Given the description of an element on the screen output the (x, y) to click on. 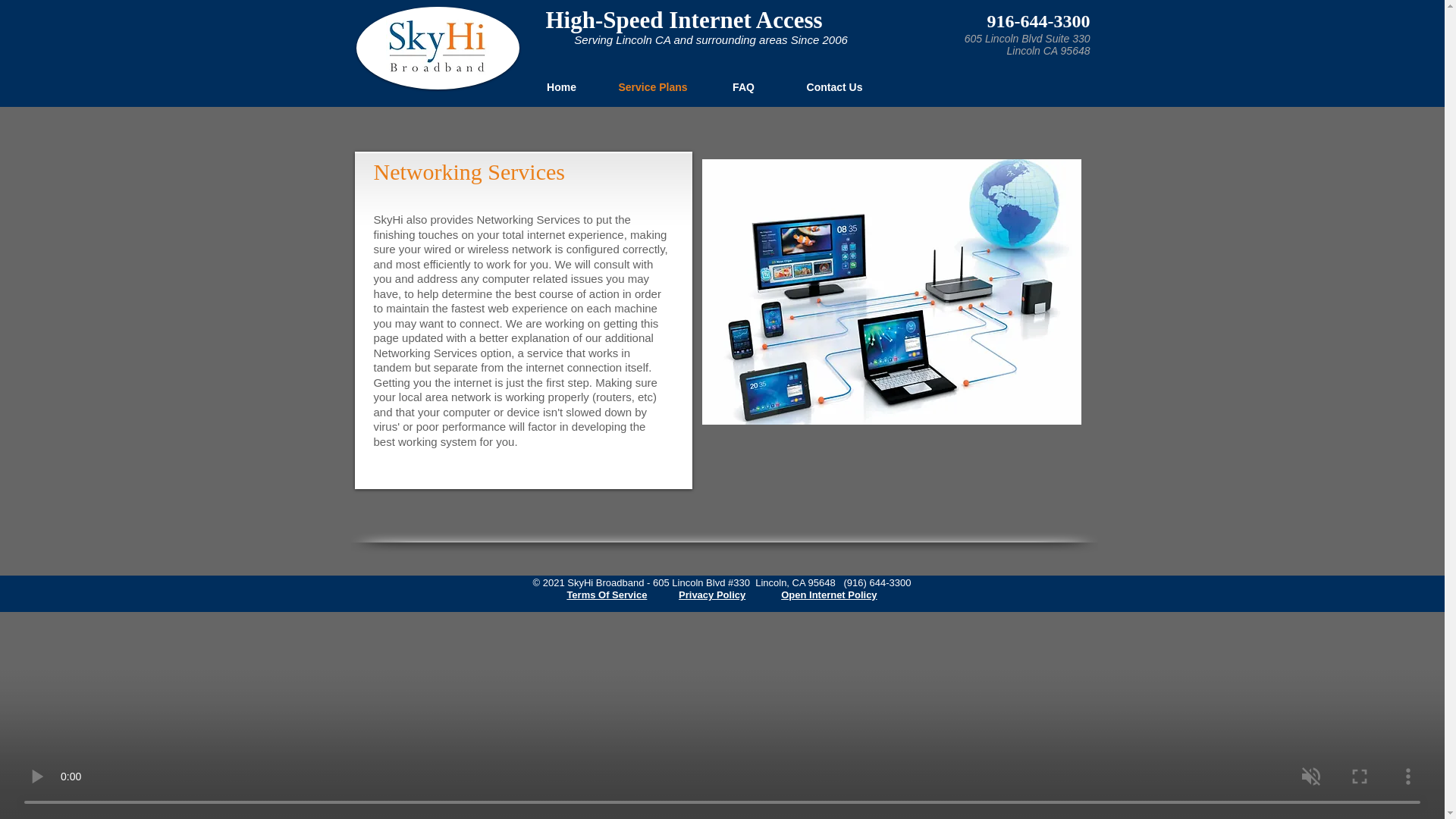
Contact Us (834, 87)
Home (561, 87)
Privacy Policy (711, 594)
Service Plans (652, 87)
Terms Of Service (606, 594)
FAQ (743, 87)
